Given the description of an element on the screen output the (x, y) to click on. 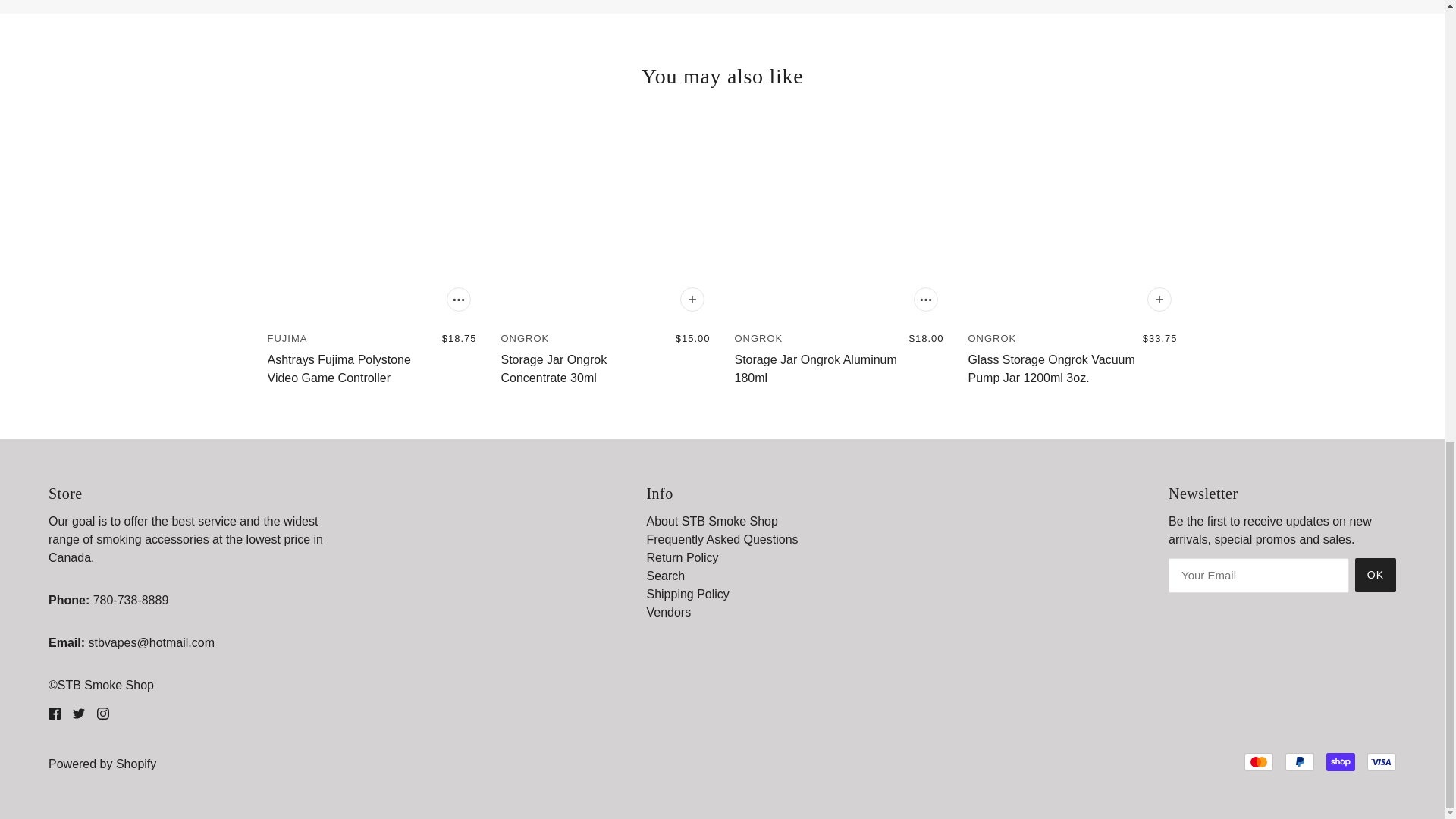
Vendors (668, 612)
Mastercard (1258, 761)
About STB Smoke Shop (711, 521)
Search (665, 575)
Frequently Asked Questions (721, 539)
Return Policy (681, 557)
Shipping Policy (687, 594)
